Given the description of an element on the screen output the (x, y) to click on. 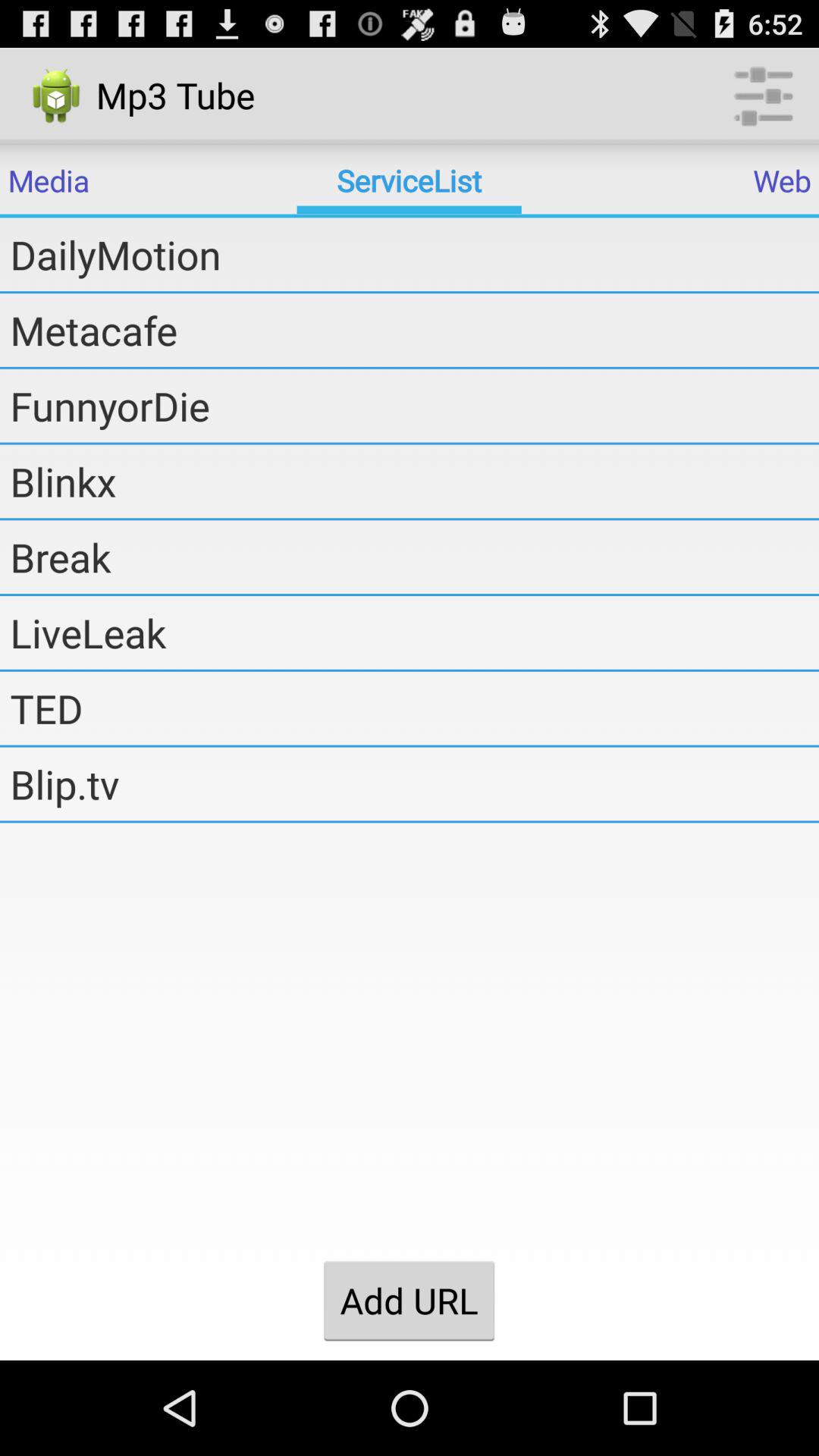
open item below liveleak (414, 707)
